Given the description of an element on the screen output the (x, y) to click on. 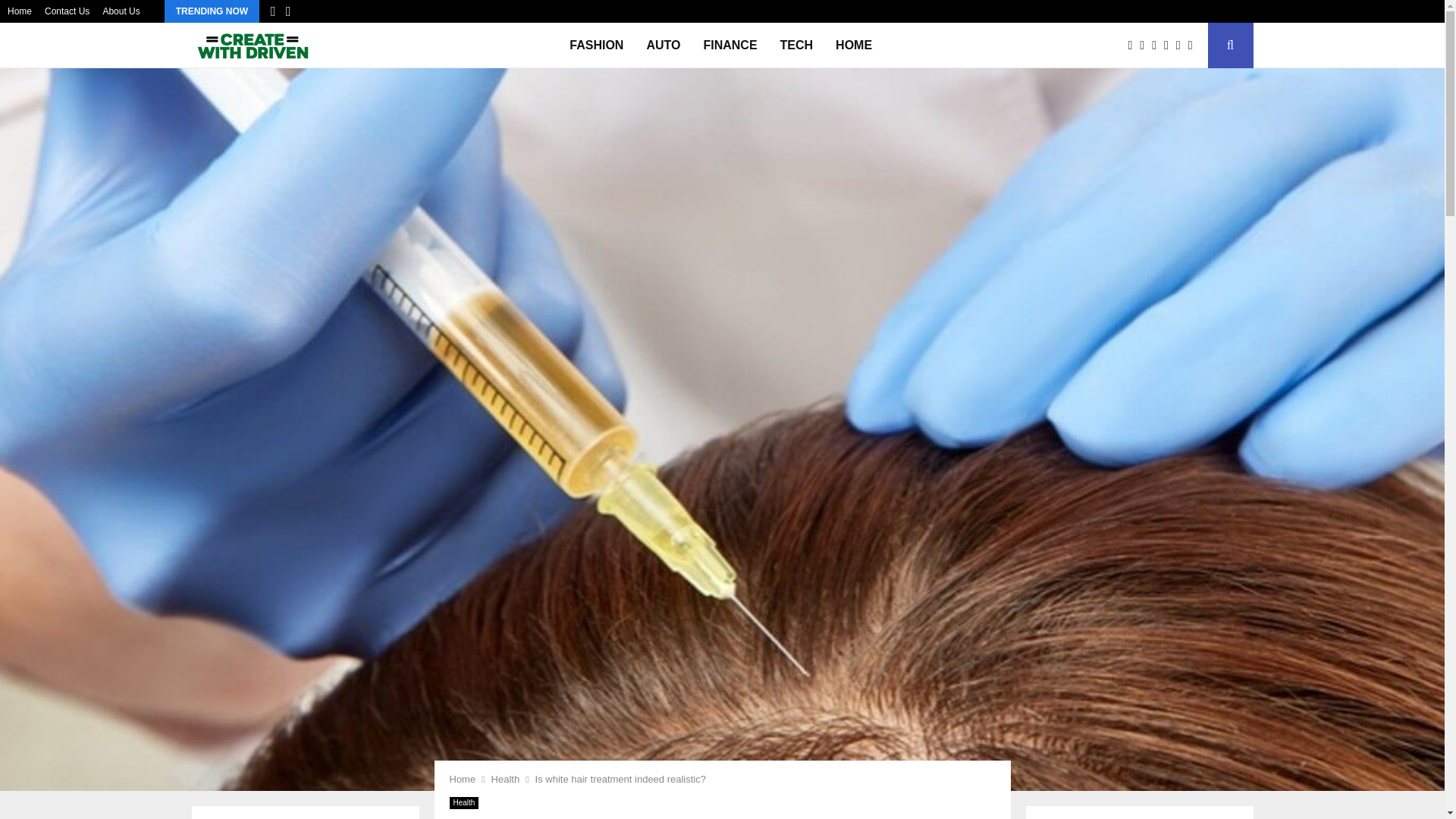
Home (462, 778)
Home (19, 11)
Health (505, 778)
Contact Us (66, 11)
FINANCE (730, 44)
About Us (120, 11)
Is white hair treatment indeed realistic? (620, 778)
FASHION (596, 44)
Health (463, 802)
